Given the description of an element on the screen output the (x, y) to click on. 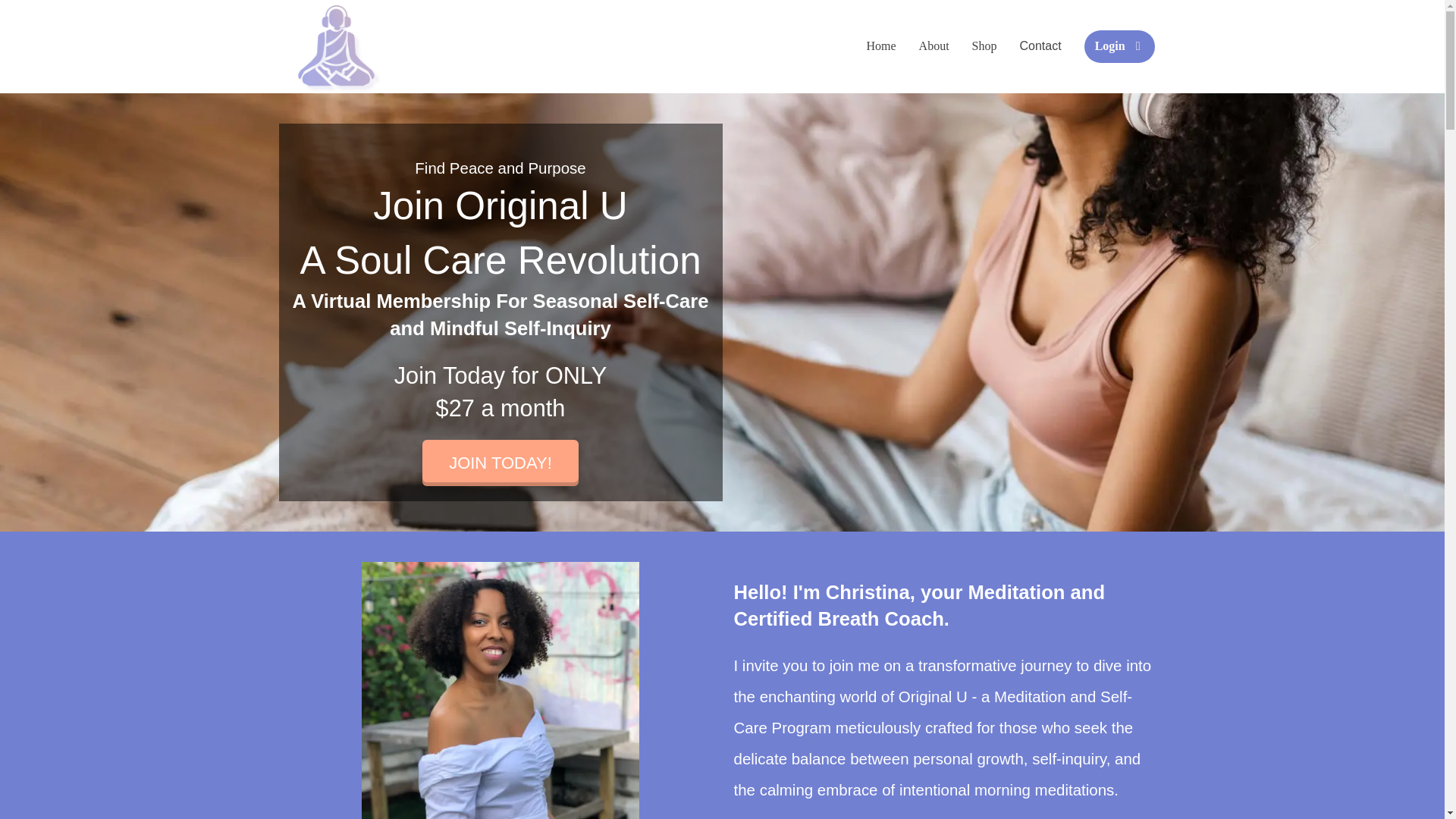
Home (880, 46)
About (933, 46)
Login (1119, 46)
JOIN TODAY! (500, 462)
Shop (984, 46)
Contact (1041, 46)
